Given the description of an element on the screen output the (x, y) to click on. 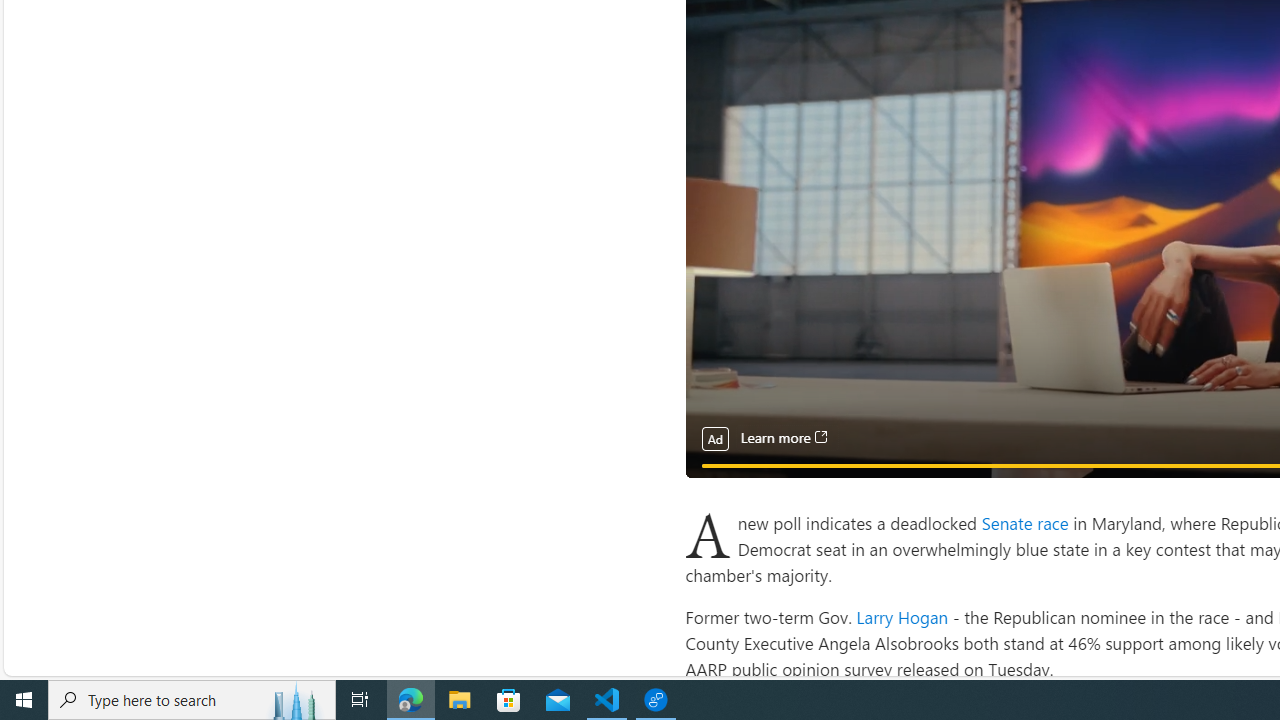
Learn more (783, 438)
Senate race  (1026, 522)
Pause (714, 488)
Larry Hogan (902, 615)
